Given the description of an element on the screen output the (x, y) to click on. 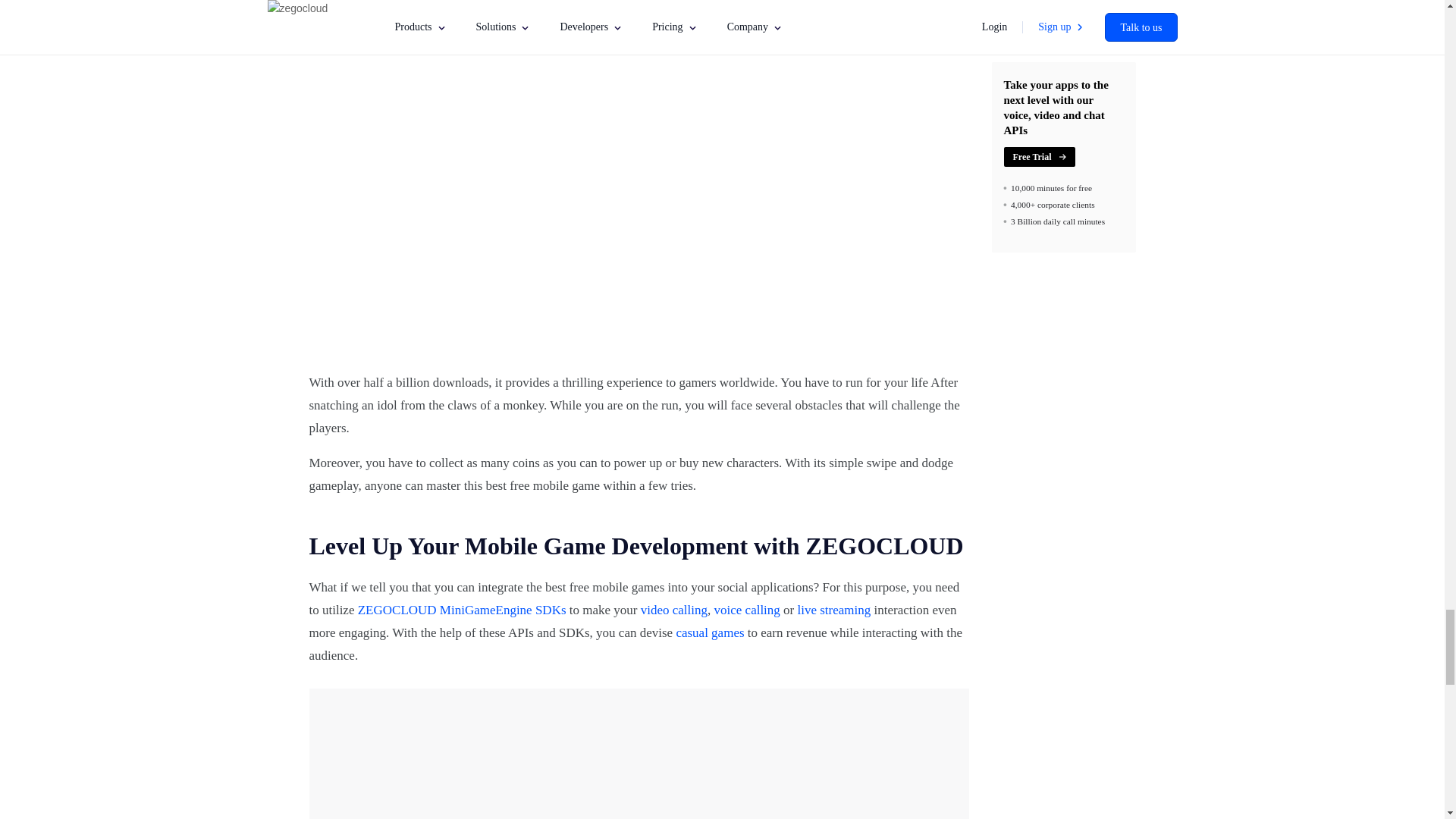
Why Should You Develop a Social App with Mini-Game? (638, 753)
ZEGOCLOUD MiniGameEngine SDKs (462, 609)
casual games (709, 632)
live streaming (833, 609)
voice calling (747, 609)
video calling (673, 609)
